Given the description of an element on the screen output the (x, y) to click on. 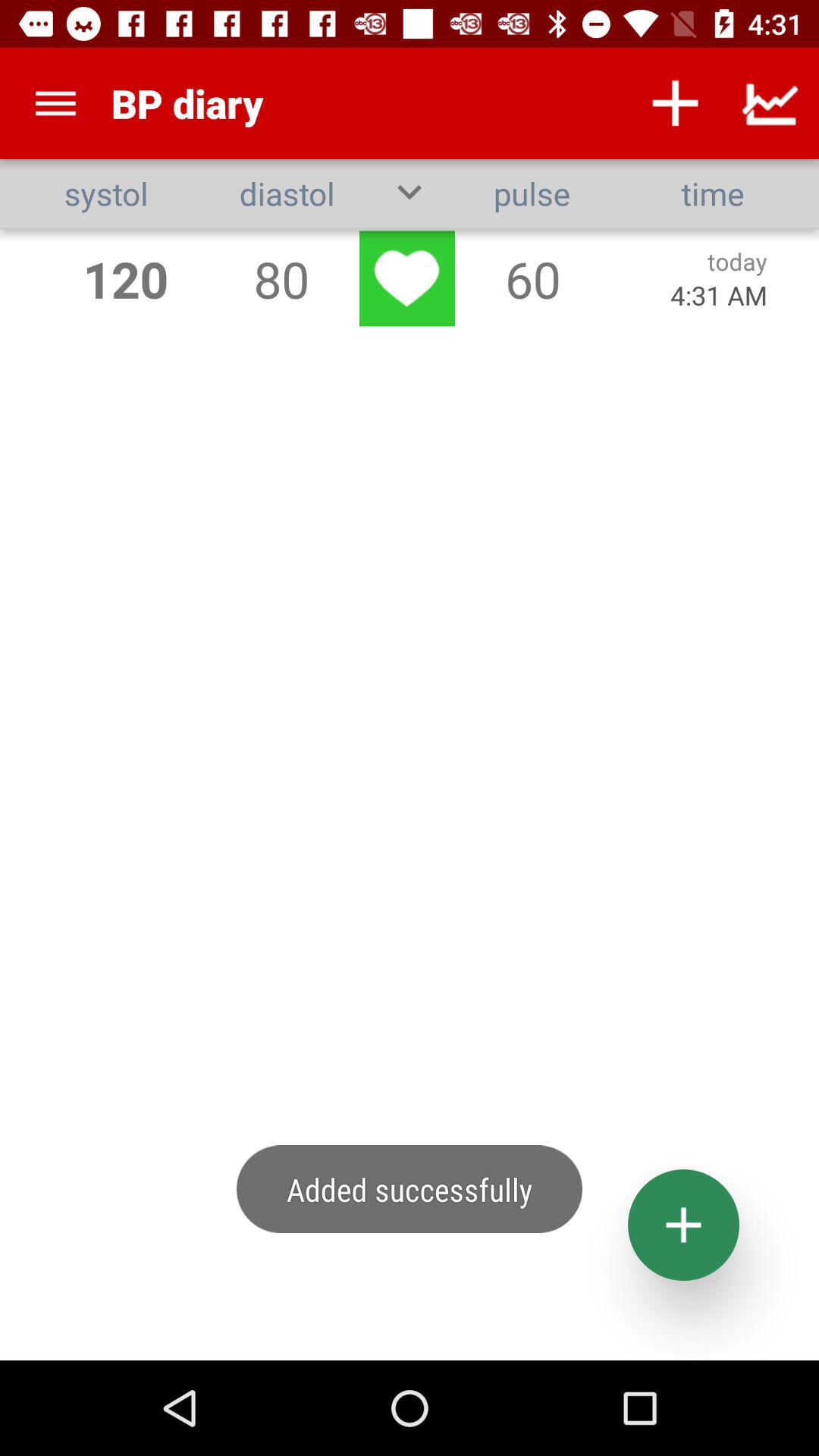
choose 60 icon (532, 278)
